Given the description of an element on the screen output the (x, y) to click on. 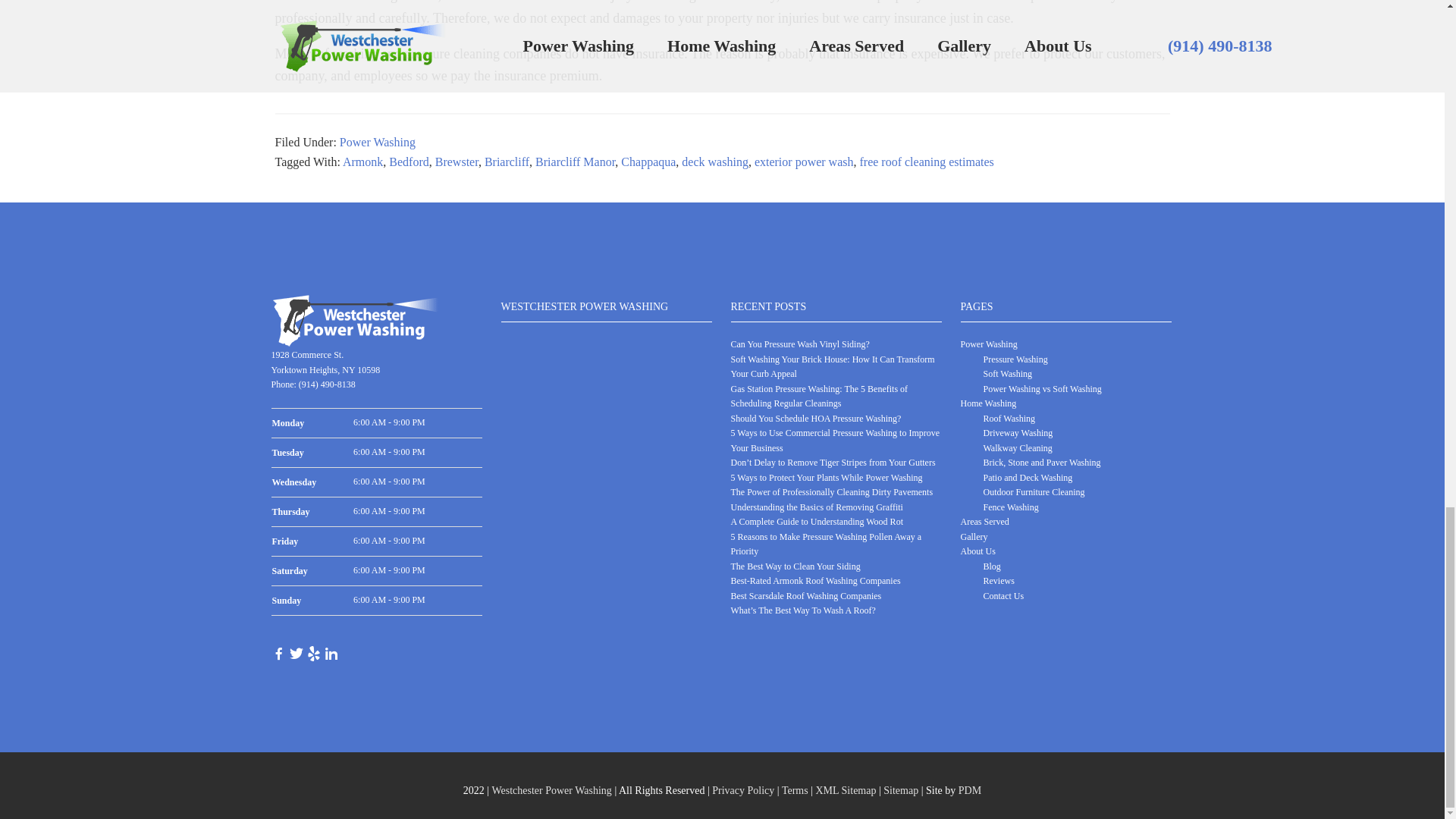
exterior power wash (803, 161)
Power Washing (376, 141)
Bedford (408, 161)
free roof cleaning estimates (927, 161)
Chappaqua (648, 161)
Briarcliff Manor (574, 161)
Briarcliff (506, 161)
deck washing (714, 161)
Ogden SEO (969, 790)
